Given the description of an element on the screen output the (x, y) to click on. 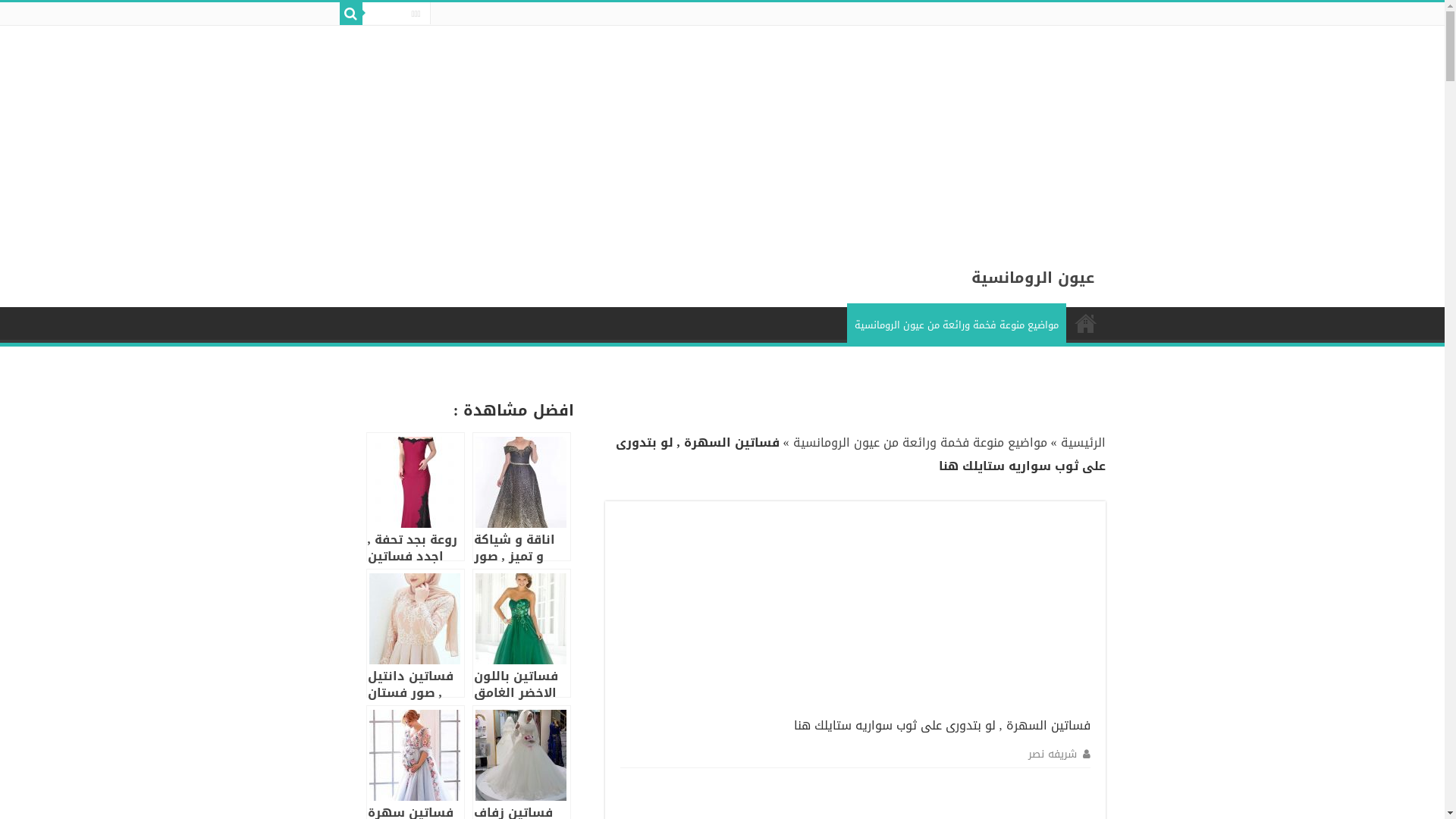
Advertisement Element type: hover (989, 131)
Advertisement Element type: hover (976, 611)
